Given the description of an element on the screen output the (x, y) to click on. 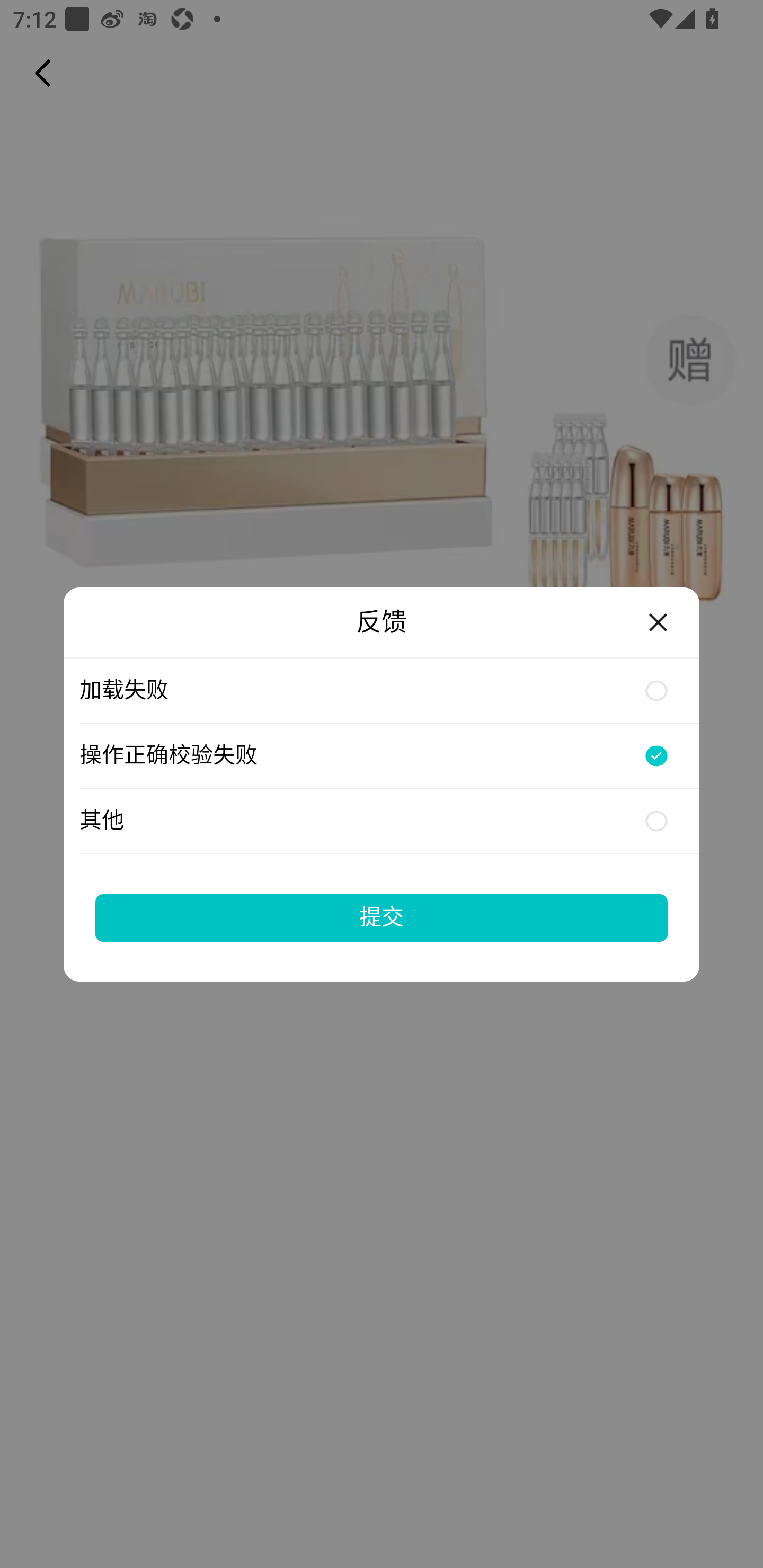
提交 (381, 917)
